Given the description of an element on the screen output the (x, y) to click on. 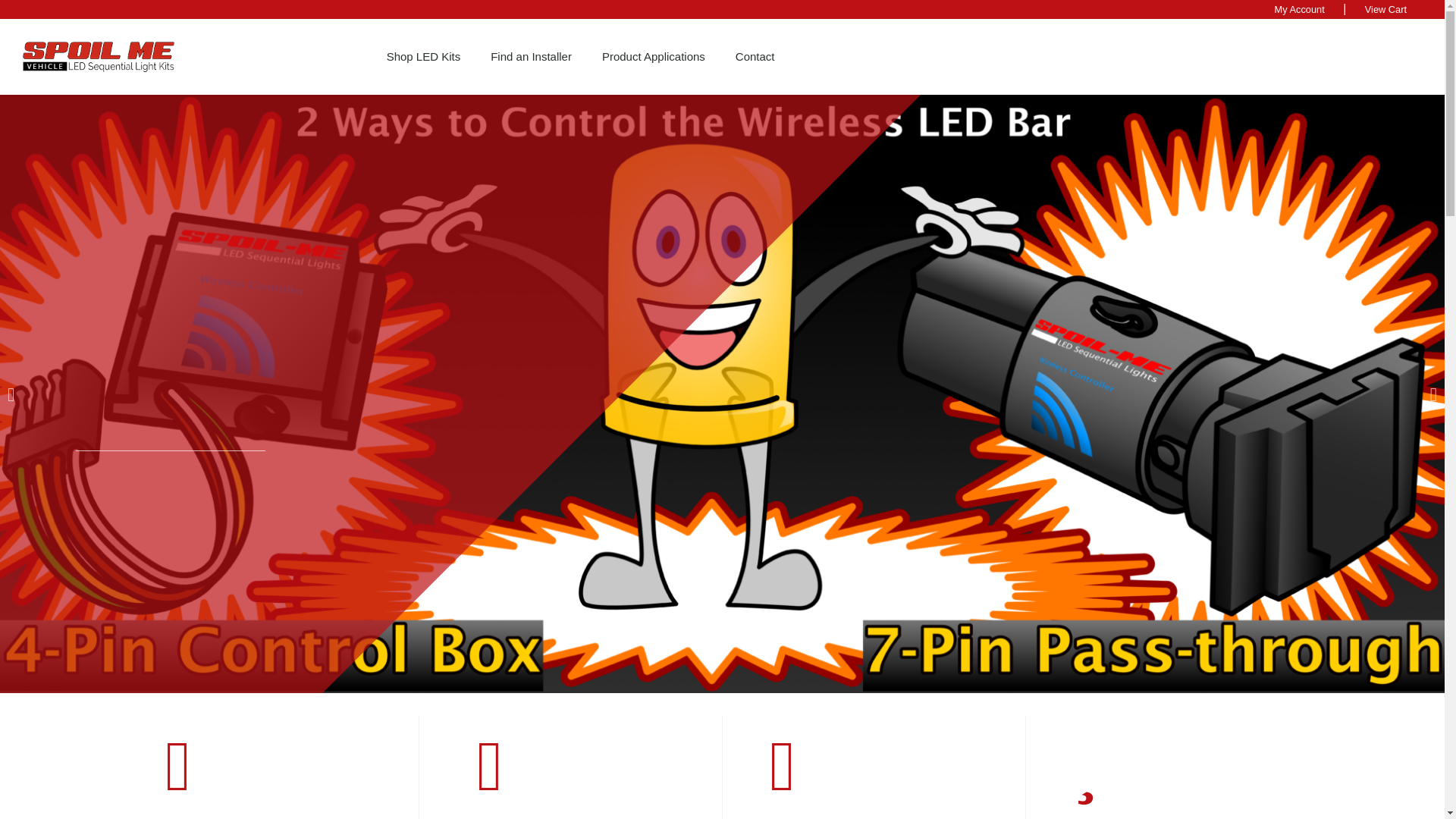
My Account (1299, 9)
Contact (755, 56)
Shop LED Kits (423, 56)
Product Applications (653, 56)
View Cart (1385, 9)
Find an Installer (531, 56)
